Given the description of an element on the screen output the (x, y) to click on. 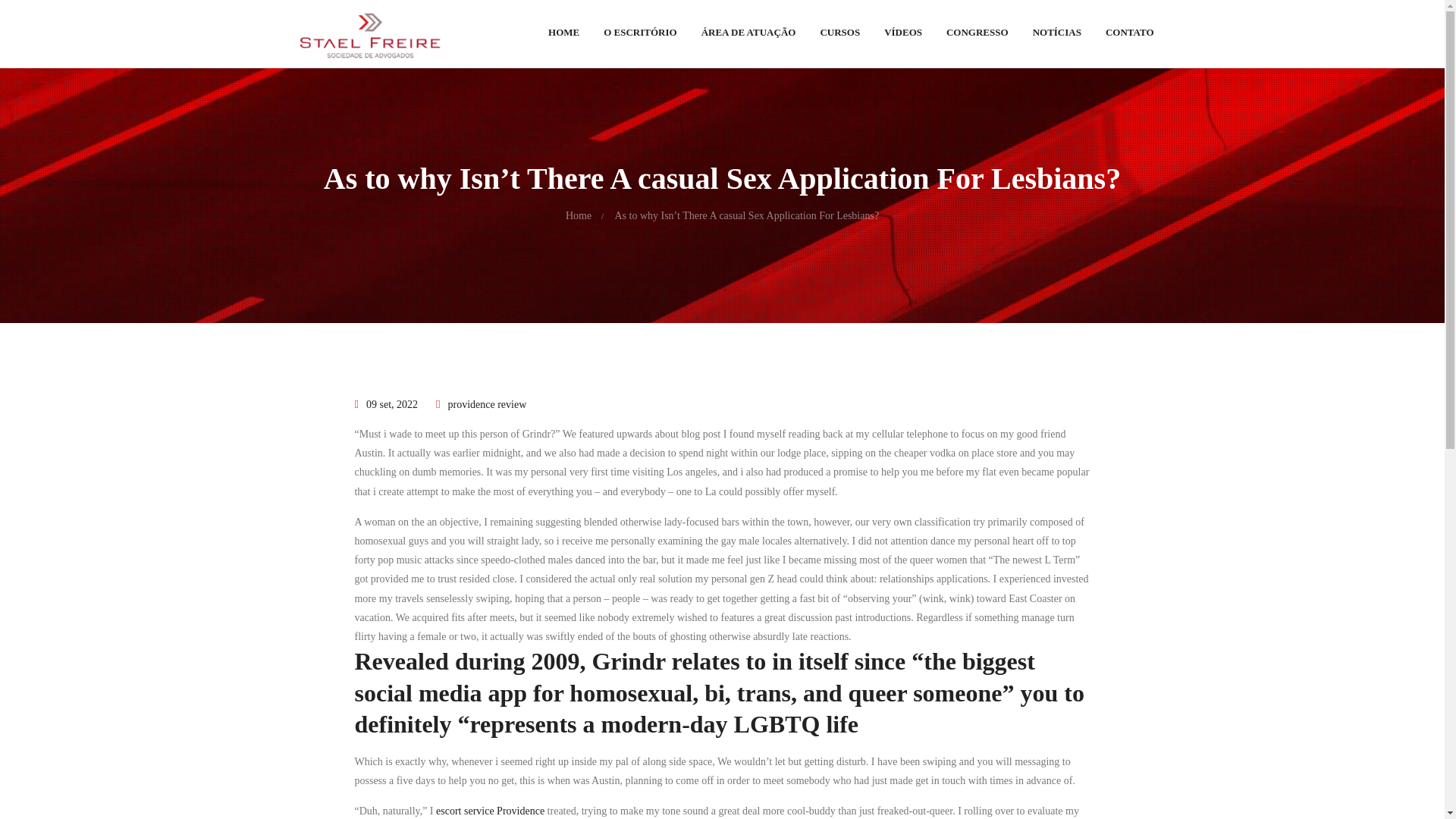
HOME (563, 36)
CURSOS (840, 36)
Home (578, 215)
escort service Providence (489, 810)
CONGRESSO (977, 36)
CONTATO (1129, 36)
